Given the description of an element on the screen output the (x, y) to click on. 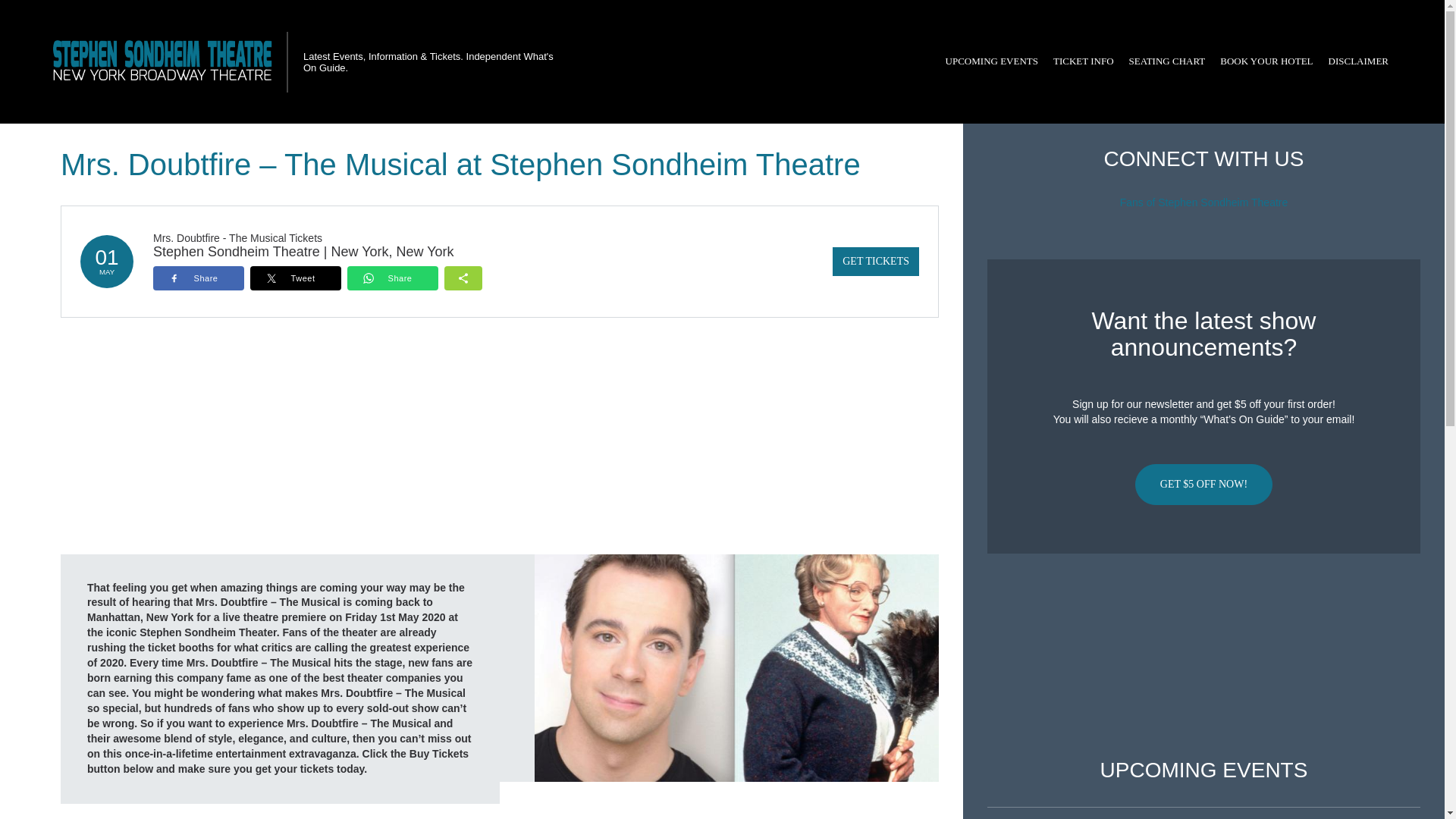
BOOK YOUR HOTEL (1266, 61)
TICKET INFO (1083, 61)
Advertisement (1204, 655)
GET TICKETS (875, 261)
UPCOMING EVENTS (991, 61)
SEATING CHART (1166, 61)
Mrs. Doubtfire - The Musical at Stephen Sondheim Theater (736, 667)
DISCLAIMER (1358, 61)
Mrs. Doubtfire - The Musical Tickets (236, 237)
